Given the description of an element on the screen output the (x, y) to click on. 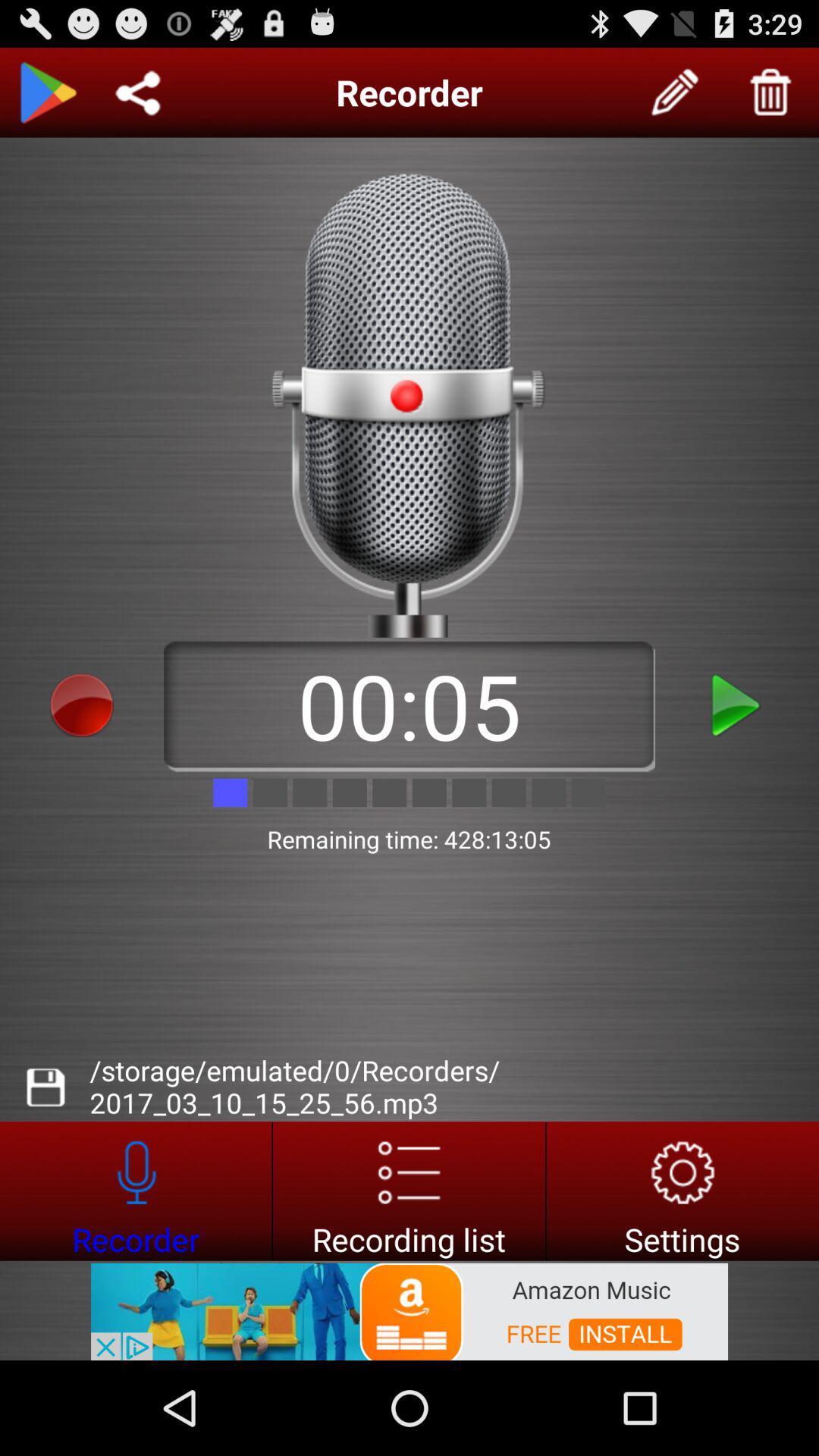
advertisement (409, 1310)
